Given the description of an element on the screen output the (x, y) to click on. 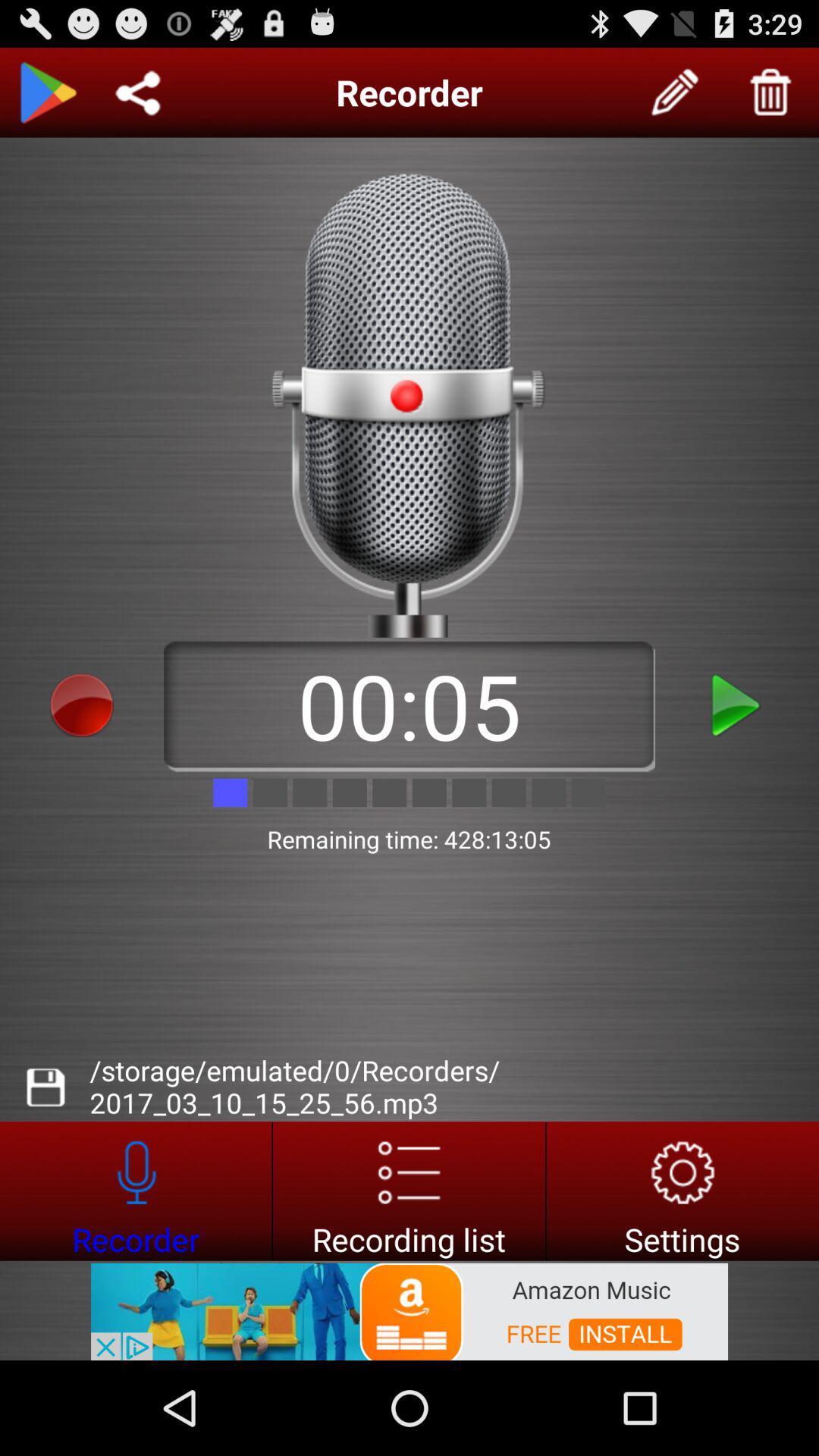
advertisement (409, 1310)
